Given the description of an element on the screen output the (x, y) to click on. 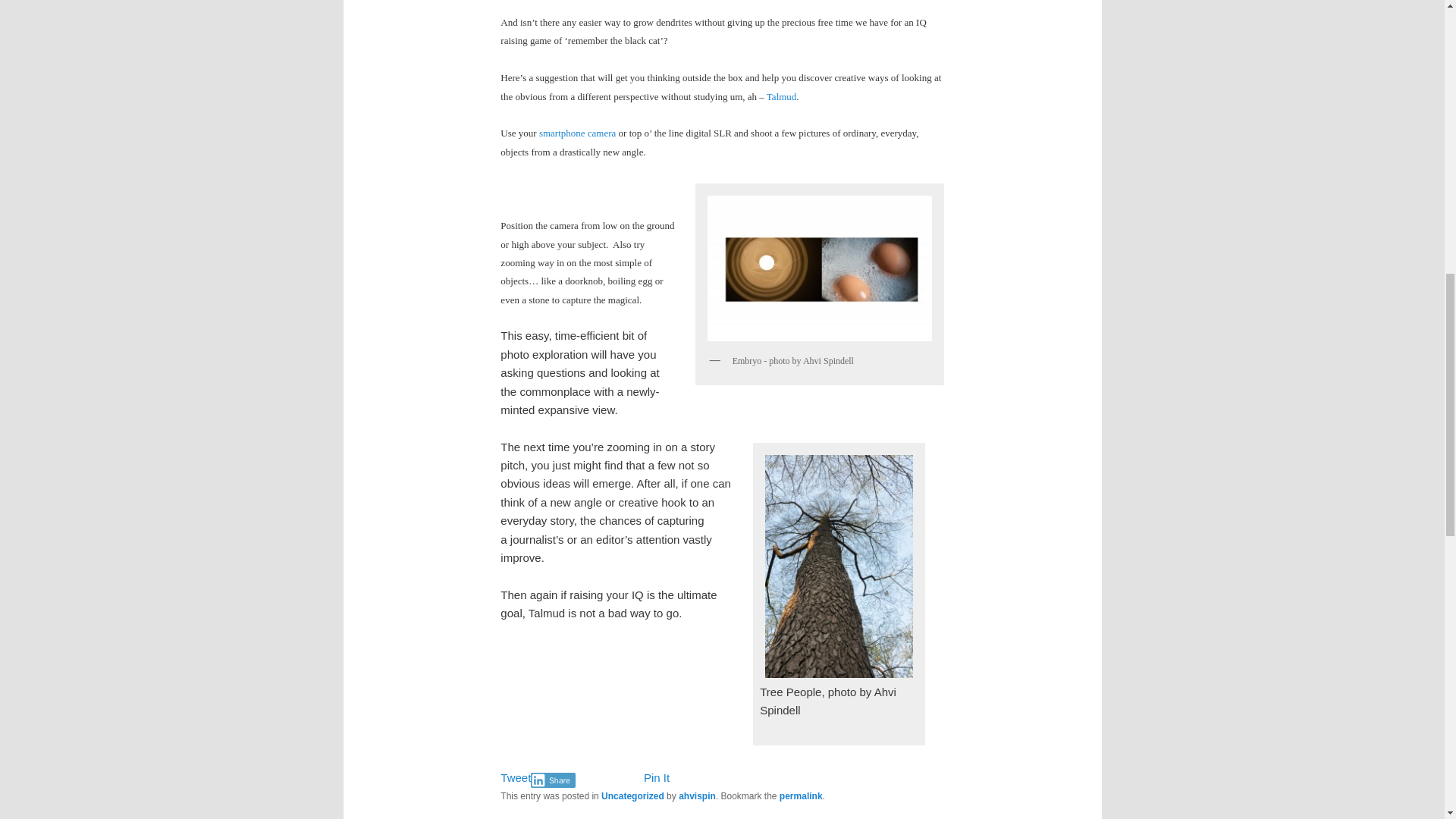
smartphone camera (576, 132)
Permalink to Shutter the Thought! (800, 796)
permalink (800, 796)
embryo3 (819, 267)
Share (553, 779)
ahvispin (697, 796)
Uncategorized (632, 796)
Tweet (515, 777)
Talmud (781, 96)
Tree People (839, 566)
Pin It (656, 777)
